Given the description of an element on the screen output the (x, y) to click on. 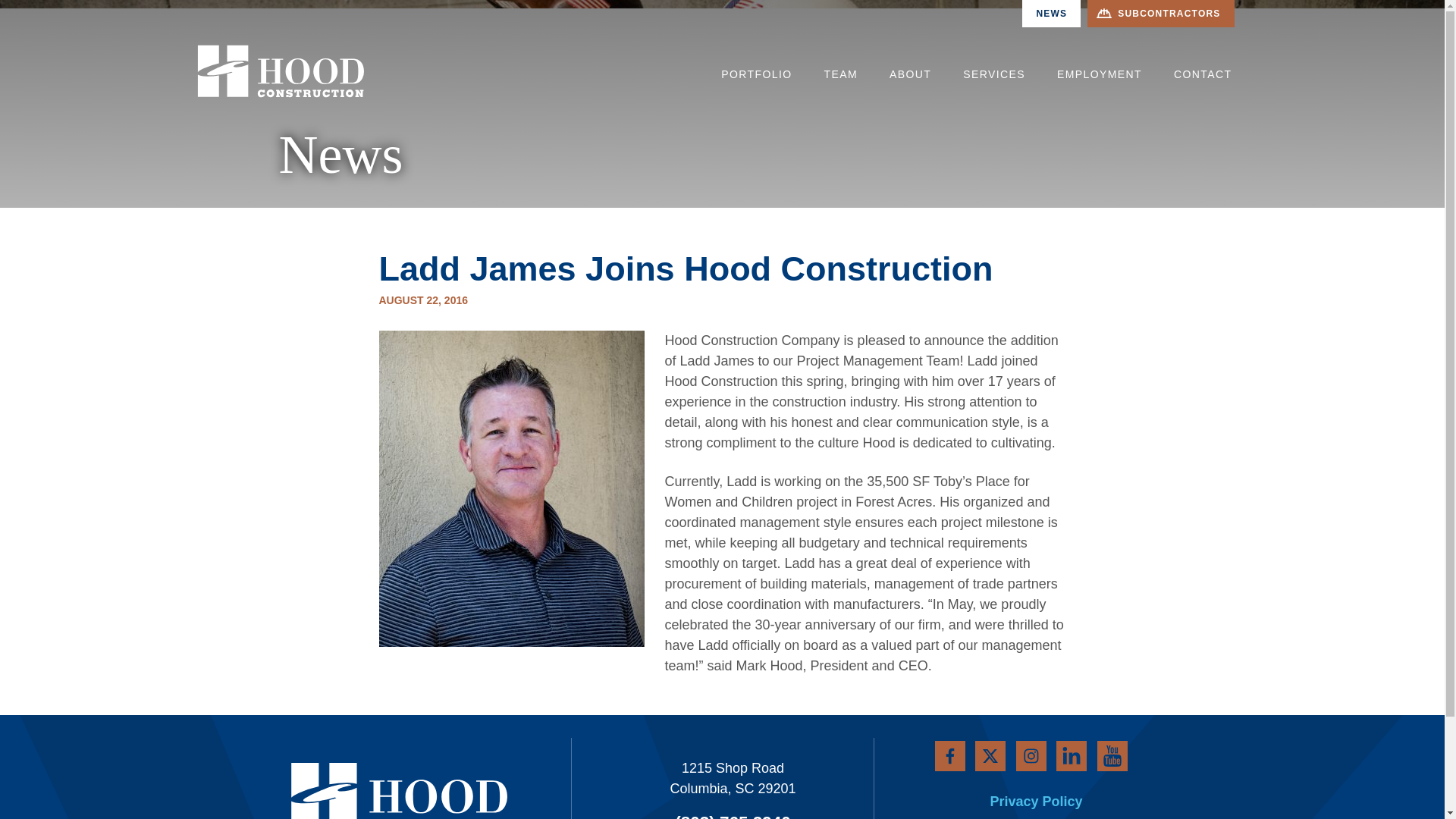
EMPLOYMENT (1099, 71)
Social Icon (1007, 752)
Hood Construction (280, 70)
CONTACT (1202, 71)
PORTFOLIO (756, 71)
SUBCONTRACTORS (1160, 13)
Hood Construction (365, 795)
NEWS (1051, 13)
SERVICES (993, 71)
Social Icon (1092, 752)
Social Icon (1134, 752)
Social Icon (964, 752)
Privacy Policy (1046, 801)
ABOUT (910, 71)
